Given the description of an element on the screen output the (x, y) to click on. 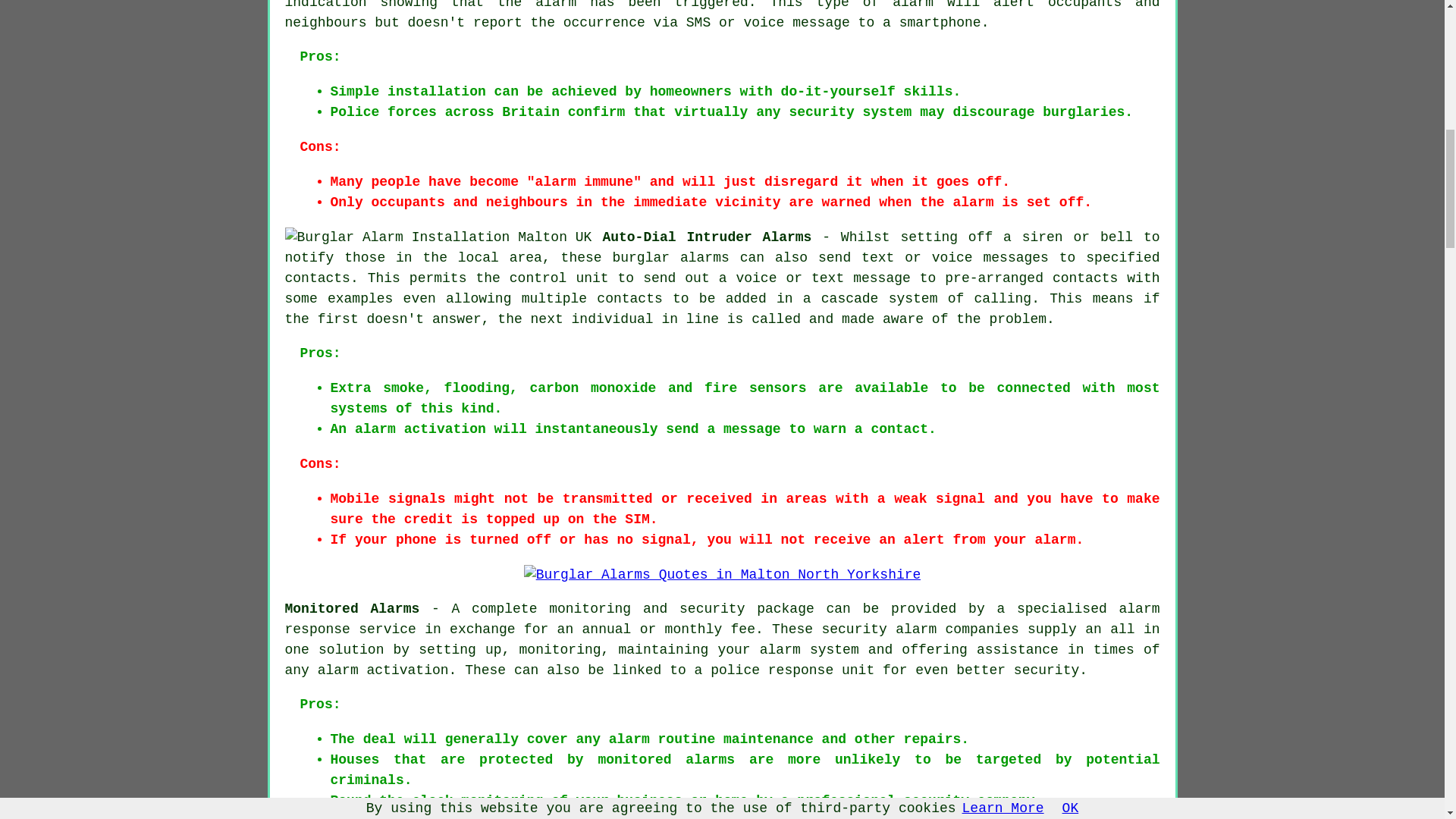
burglar alarms (670, 257)
alarm (555, 4)
Burglar Alarm Installation Malton UK (438, 237)
Burglar Alarms Quotes in Malton North Yorkshire (722, 575)
